Given the description of an element on the screen output the (x, y) to click on. 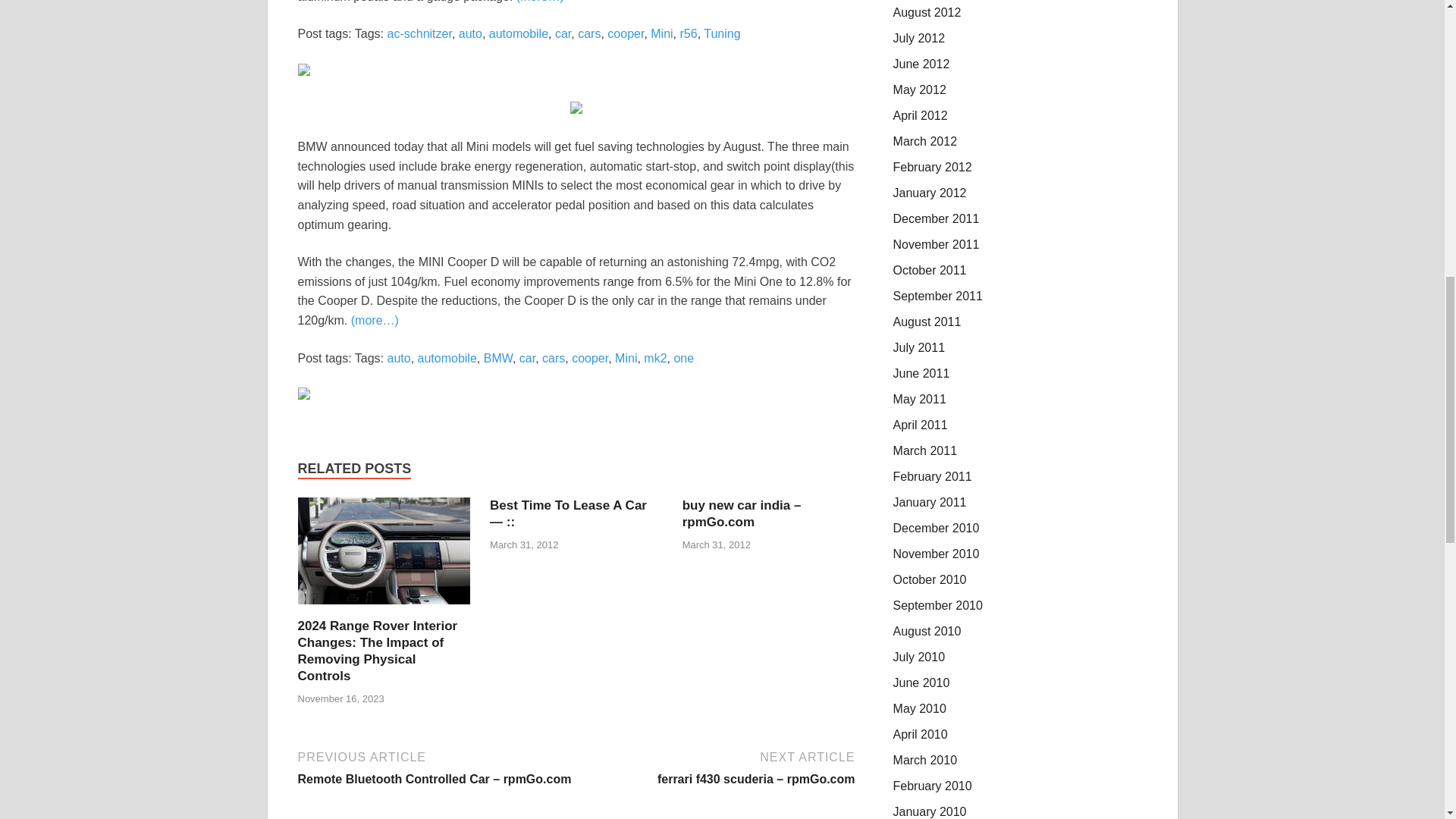
car (527, 358)
cars (588, 33)
mk2 (654, 358)
automobile (447, 358)
r56 (688, 33)
car (562, 33)
automobile (518, 33)
cars (552, 358)
